Given the description of an element on the screen output the (x, y) to click on. 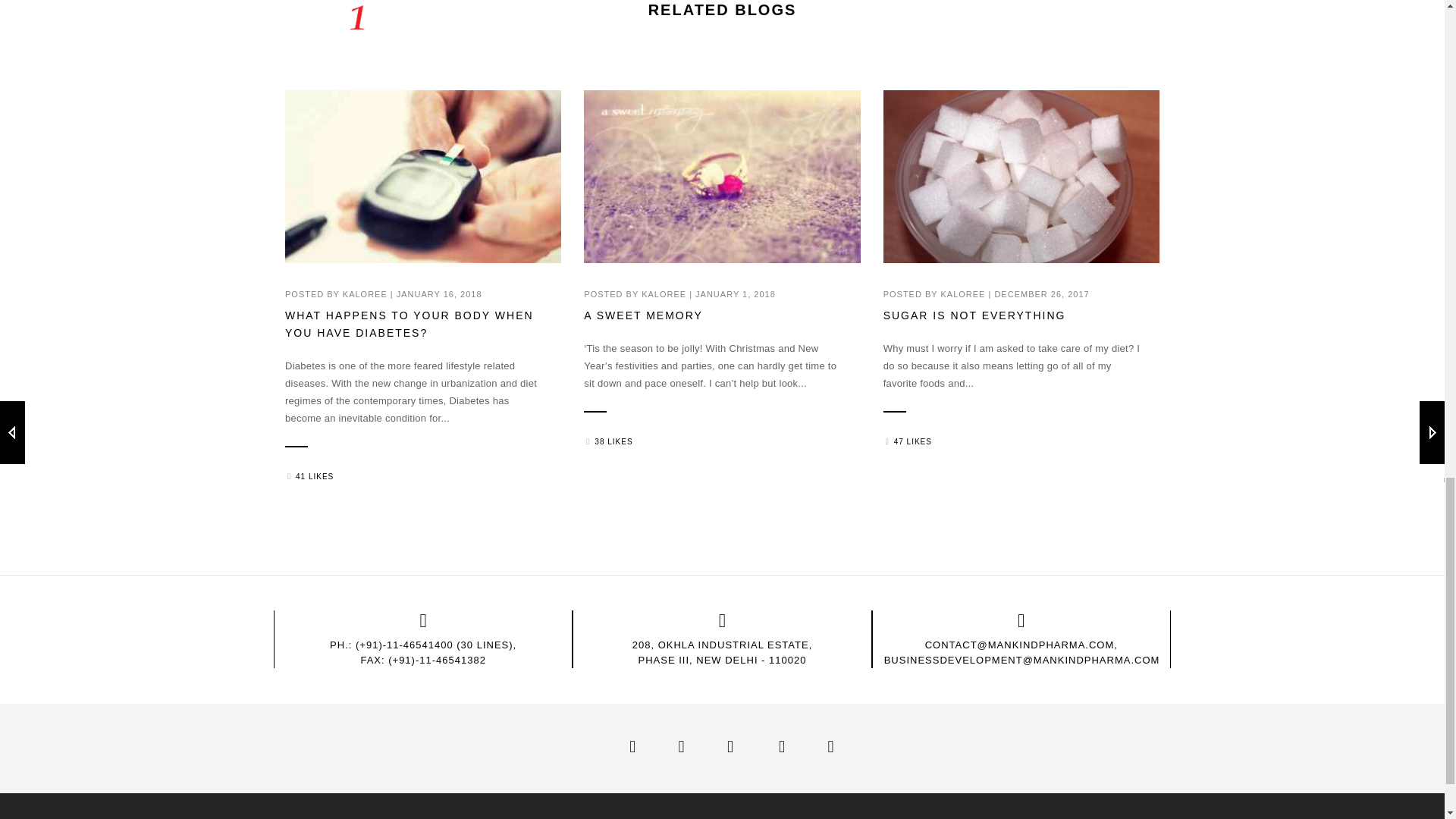
Like (607, 441)
Like (309, 476)
Like (907, 441)
